Given the description of an element on the screen output the (x, y) to click on. 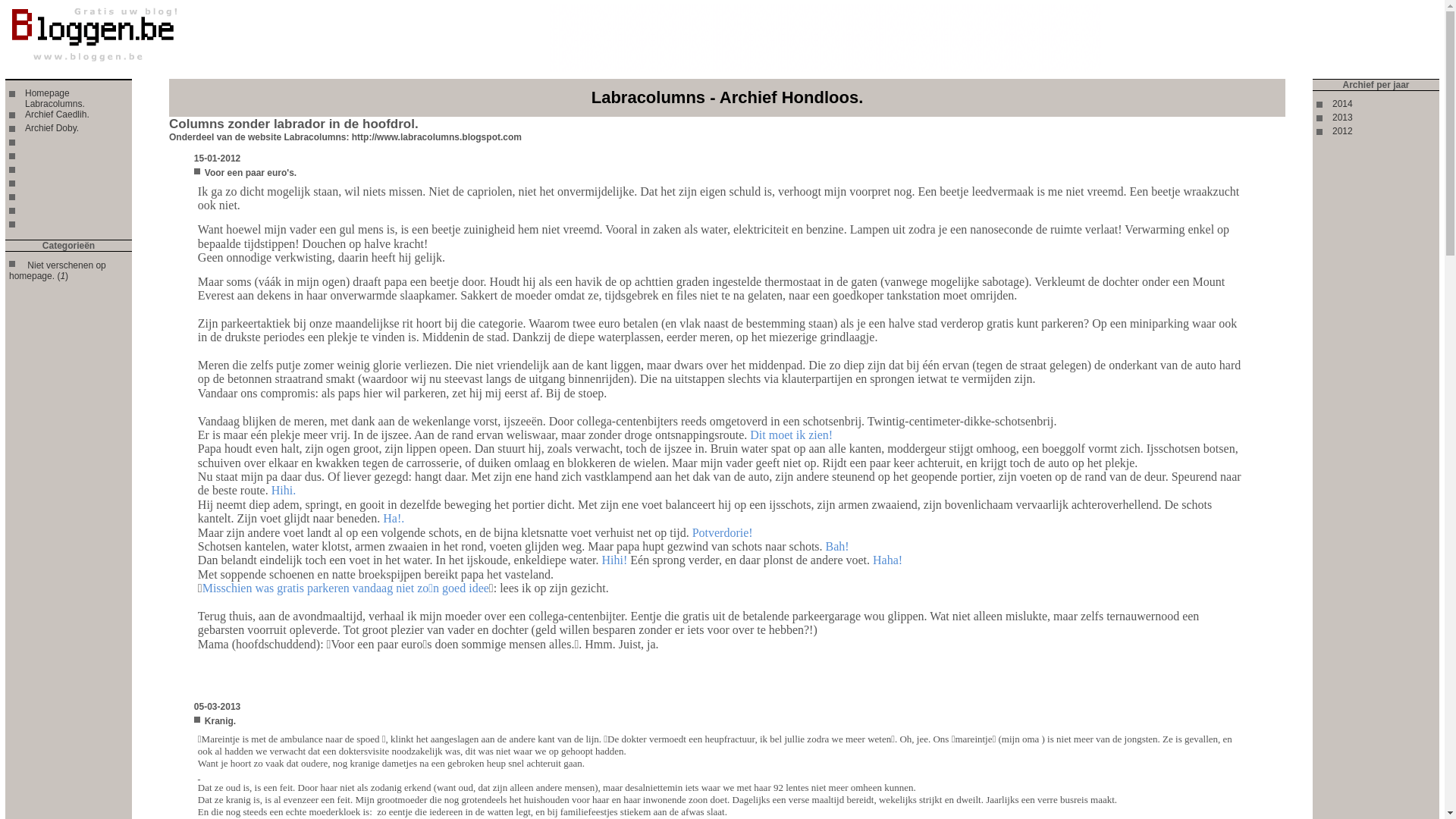
2013 Element type: text (1342, 117)
Niet verschenen op homepage. (1) Element type: text (57, 270)
2012 Element type: text (1342, 130)
2014 Element type: text (1342, 103)
Archief Doby. Element type: text (51, 127)
Archief Caedlih. Element type: text (57, 114)
3rd party ad content Element type: hover (825, 37)
Homepage Labracolumns. Element type: text (54, 98)
